Given the description of an element on the screen output the (x, y) to click on. 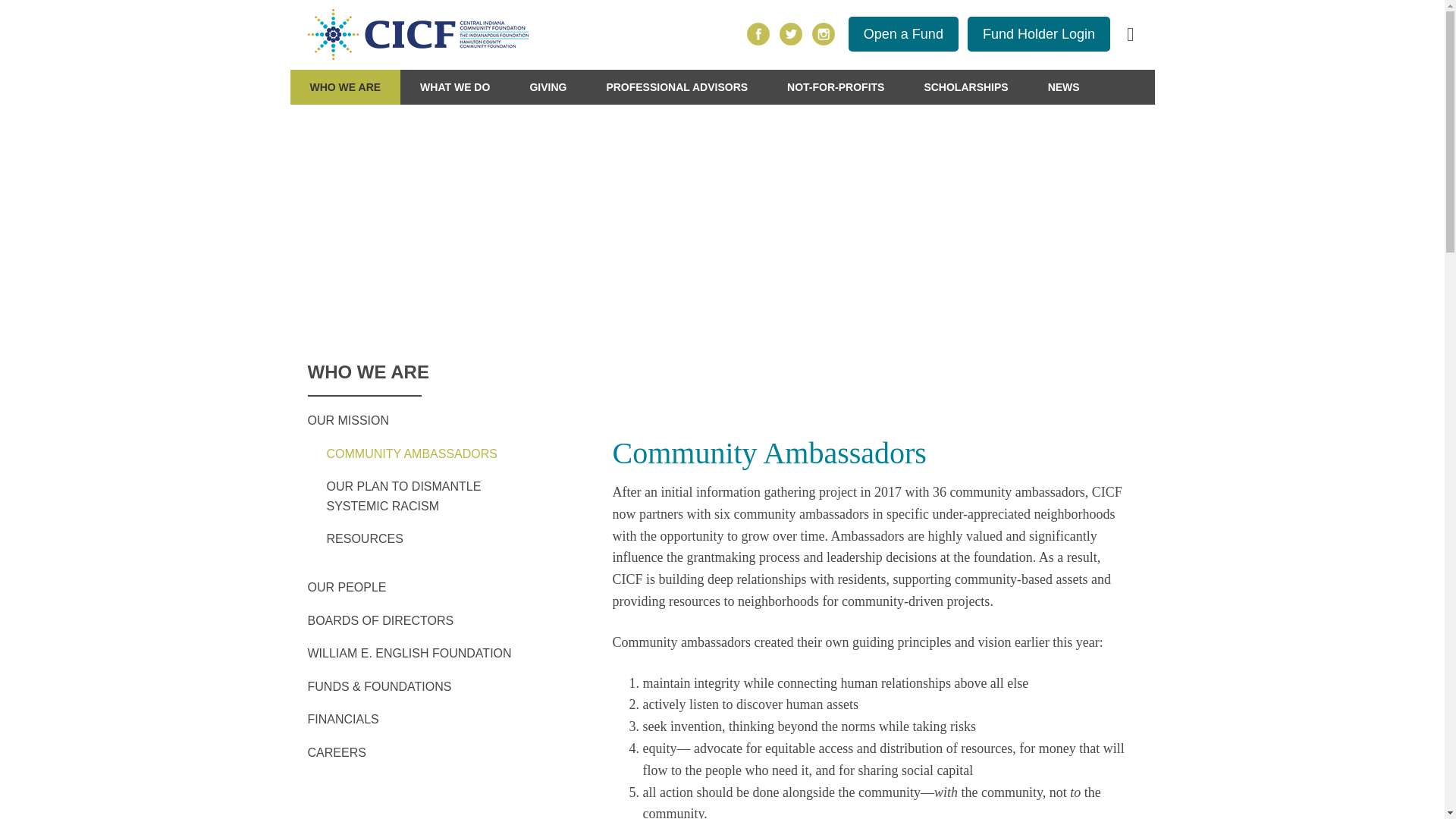
PROFESSIONAL ADVISORS (676, 86)
Fund Holder Login (1038, 33)
GIVING (547, 86)
Open a Fund (903, 33)
WHAT WE DO (454, 86)
WHO WE ARE (344, 86)
